Given the description of an element on the screen output the (x, y) to click on. 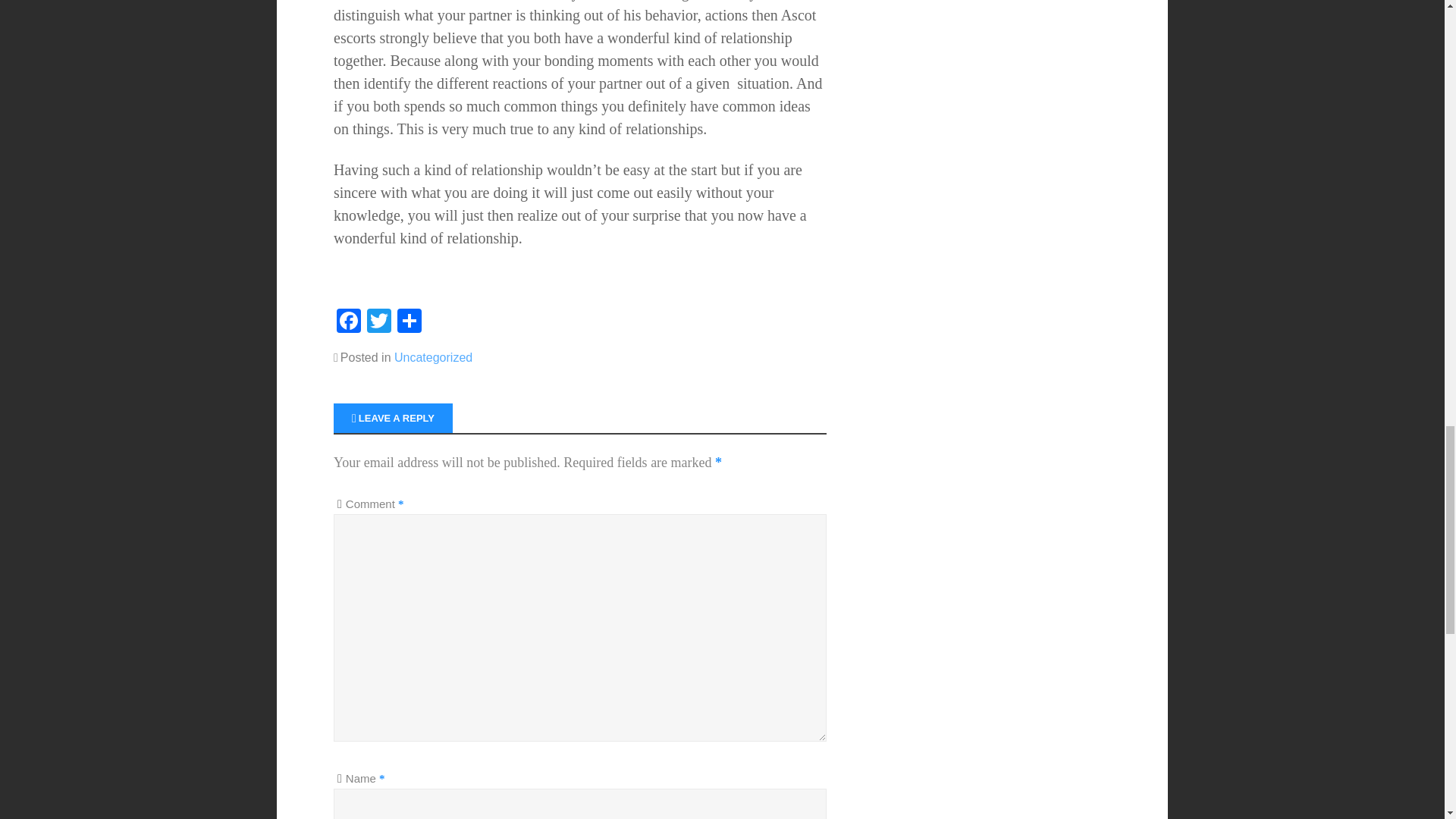
Facebook (348, 322)
Uncategorized (432, 357)
Facebook (348, 322)
Twitter (379, 322)
Twitter (379, 322)
